Given the description of an element on the screen output the (x, y) to click on. 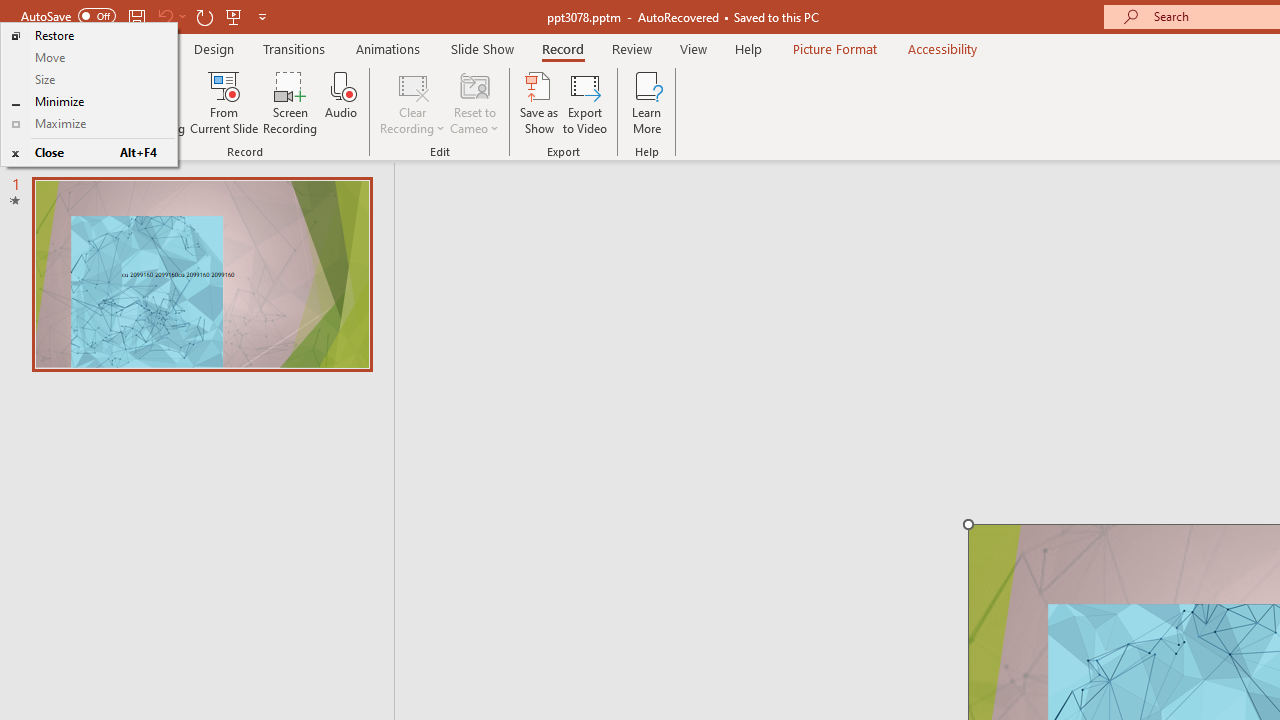
Size (88, 79)
